Given the description of an element on the screen output the (x, y) to click on. 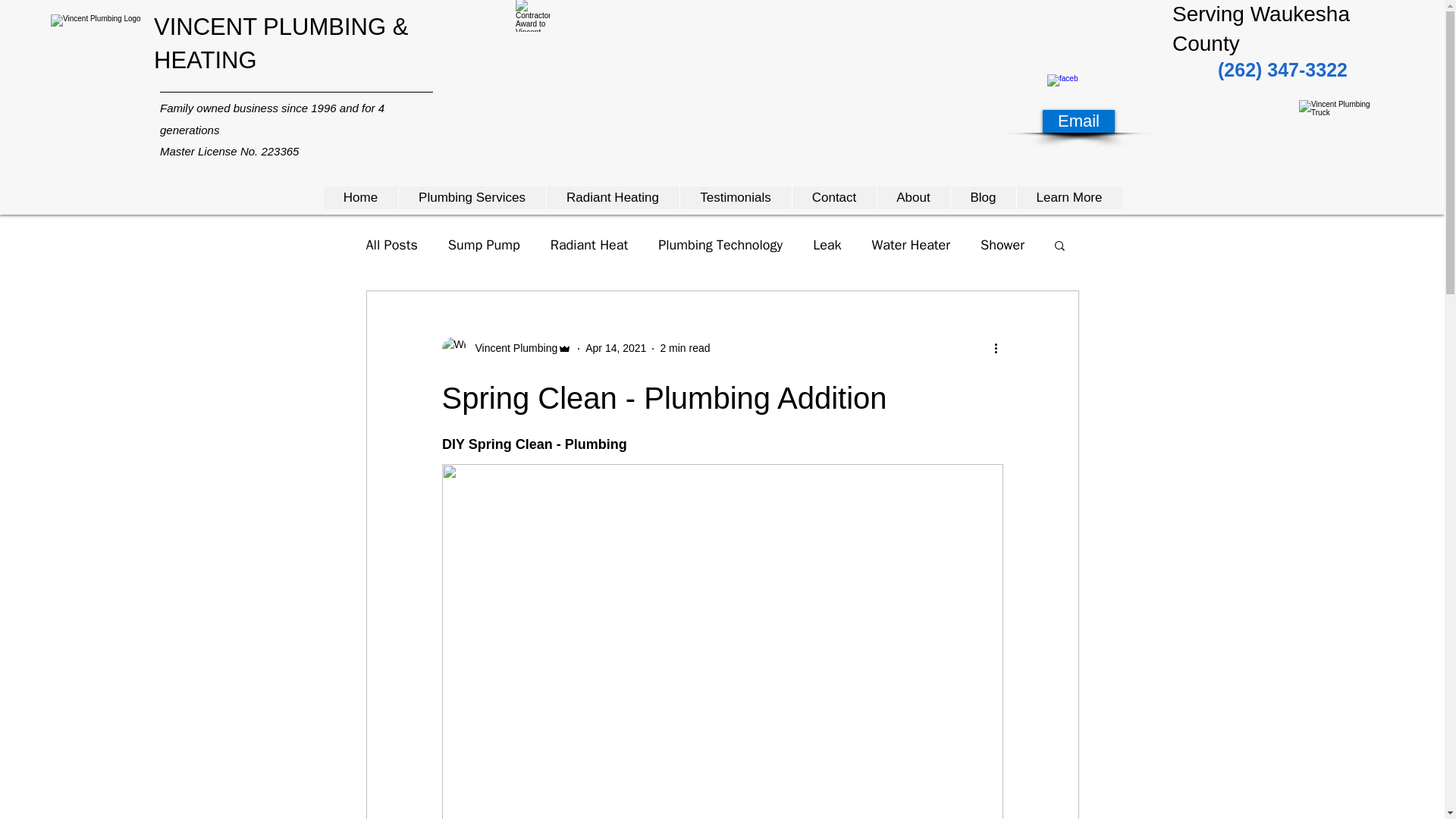
Home (360, 197)
Radiant Heating (612, 197)
Apr 14, 2021 (615, 347)
Plumbing Services (470, 197)
Email (1078, 120)
Contact (834, 197)
About (913, 197)
Vincent Plumbing (511, 348)
Learn More (1069, 197)
2 min read (684, 347)
Testimonials (735, 197)
Blog (981, 197)
